Given the description of an element on the screen output the (x, y) to click on. 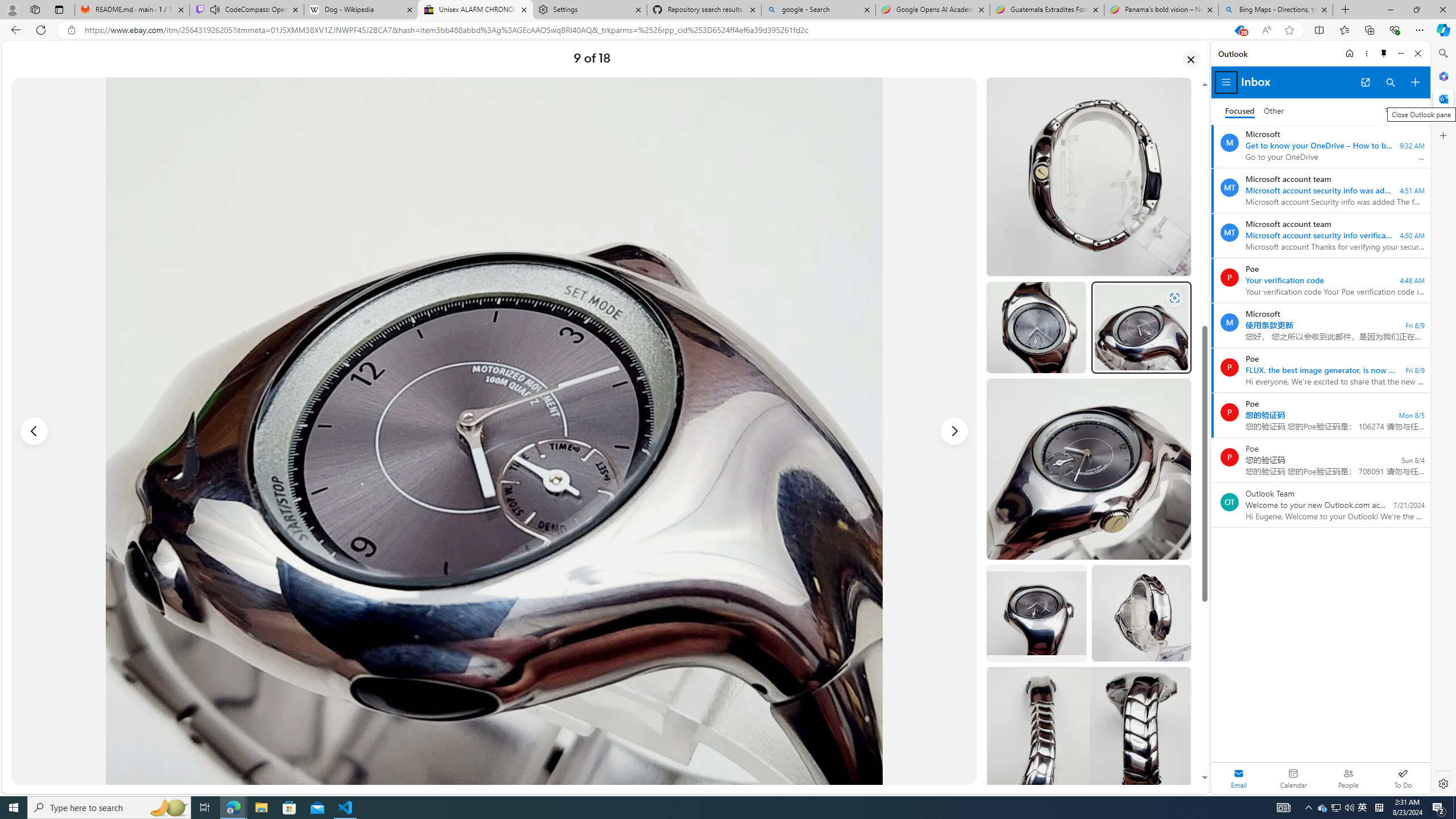
Previous image - Item images thumbnails (34, 430)
You have the best price! Shopping in Microsoft Edge, 20 (1239, 29)
Folder navigation (1225, 82)
Selected mail module (1238, 777)
